Given the description of an element on the screen output the (x, y) to click on. 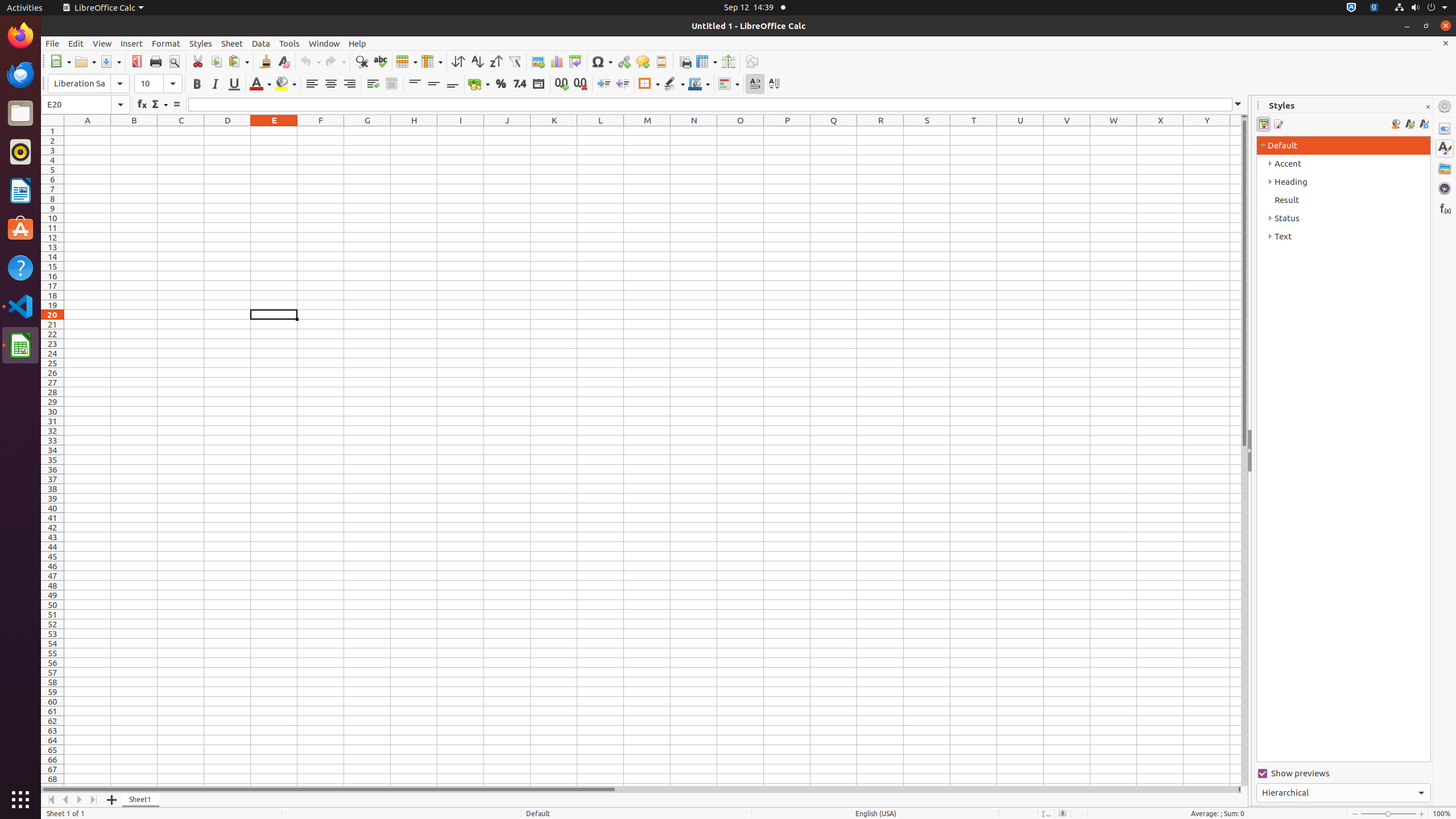
Vertical scroll bar Element type: scroll-bar (1244, 451)
Q1 Element type: table-cell (833, 130)
Find & Replace Element type: toggle-button (361, 61)
Decrease Element type: push-button (622, 83)
E1 Element type: table-cell (273, 130)
